Given the description of an element on the screen output the (x, y) to click on. 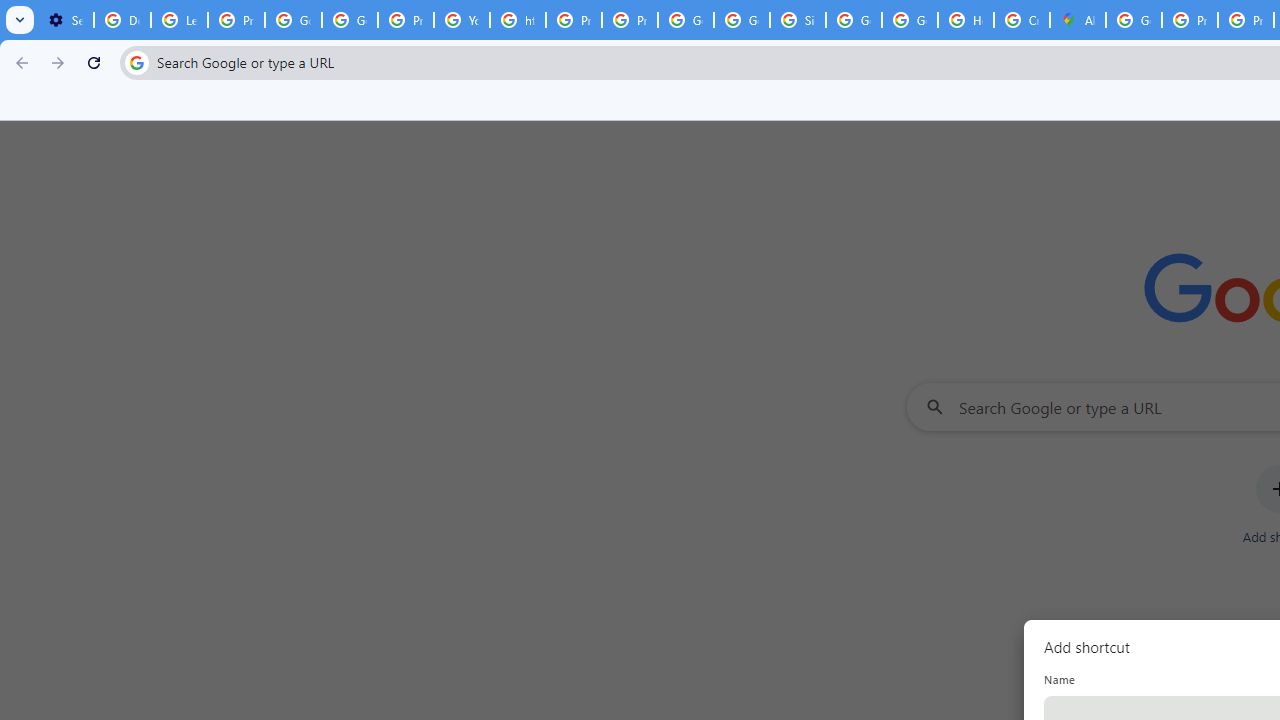
Delete photos & videos - Computer - Google Photos Help (122, 20)
Create your Google Account (1021, 20)
Privacy Help Center - Policies Help (1190, 20)
Google Account Help (349, 20)
Settings - Performance (65, 20)
https://scholar.google.com/ (518, 20)
Forward (57, 62)
Back (19, 62)
